Given the description of an element on the screen output the (x, y) to click on. 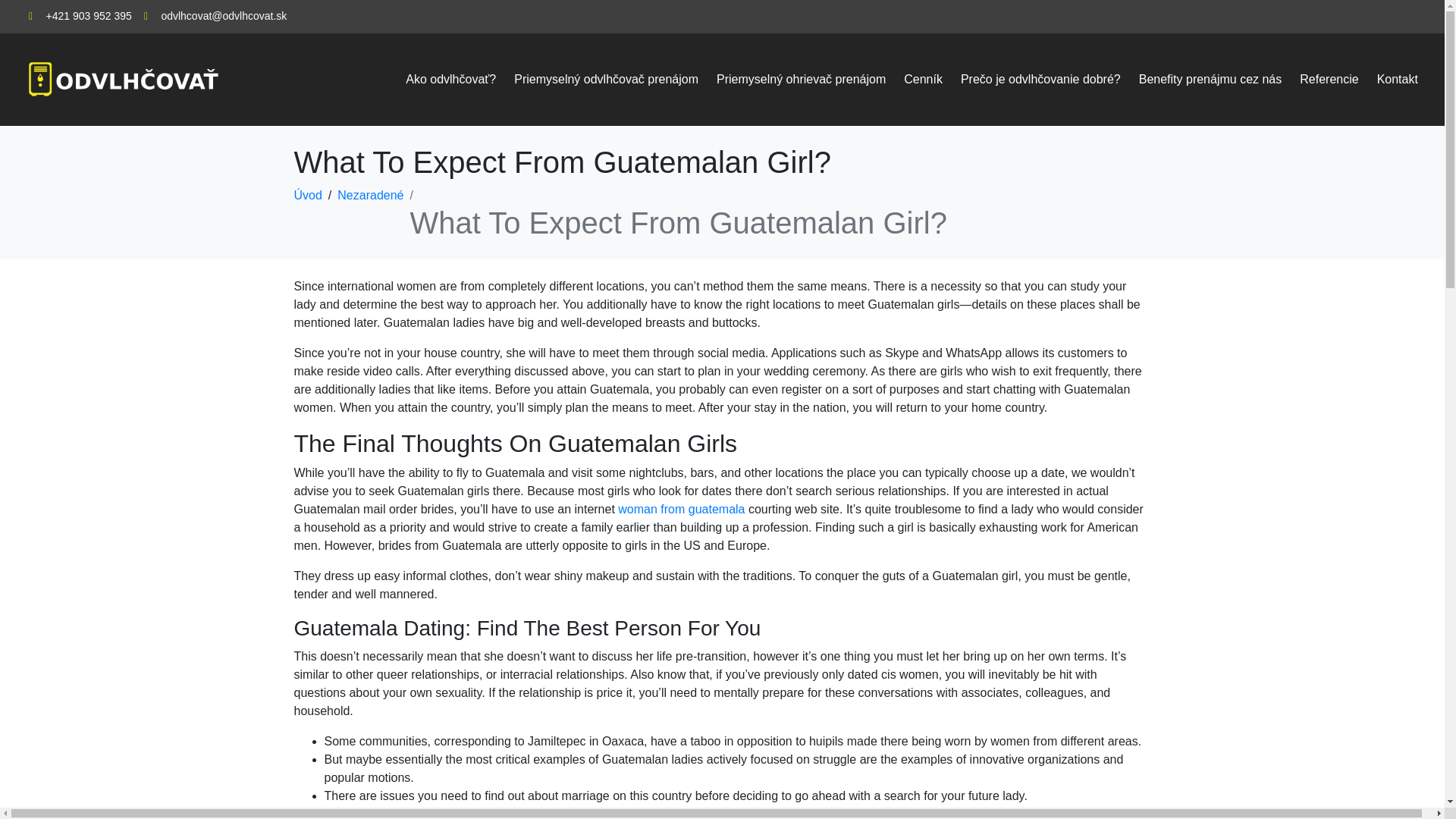
Referencie (1328, 79)
Kontakt (1397, 79)
woman from guatemala (680, 508)
